Given the description of an element on the screen output the (x, y) to click on. 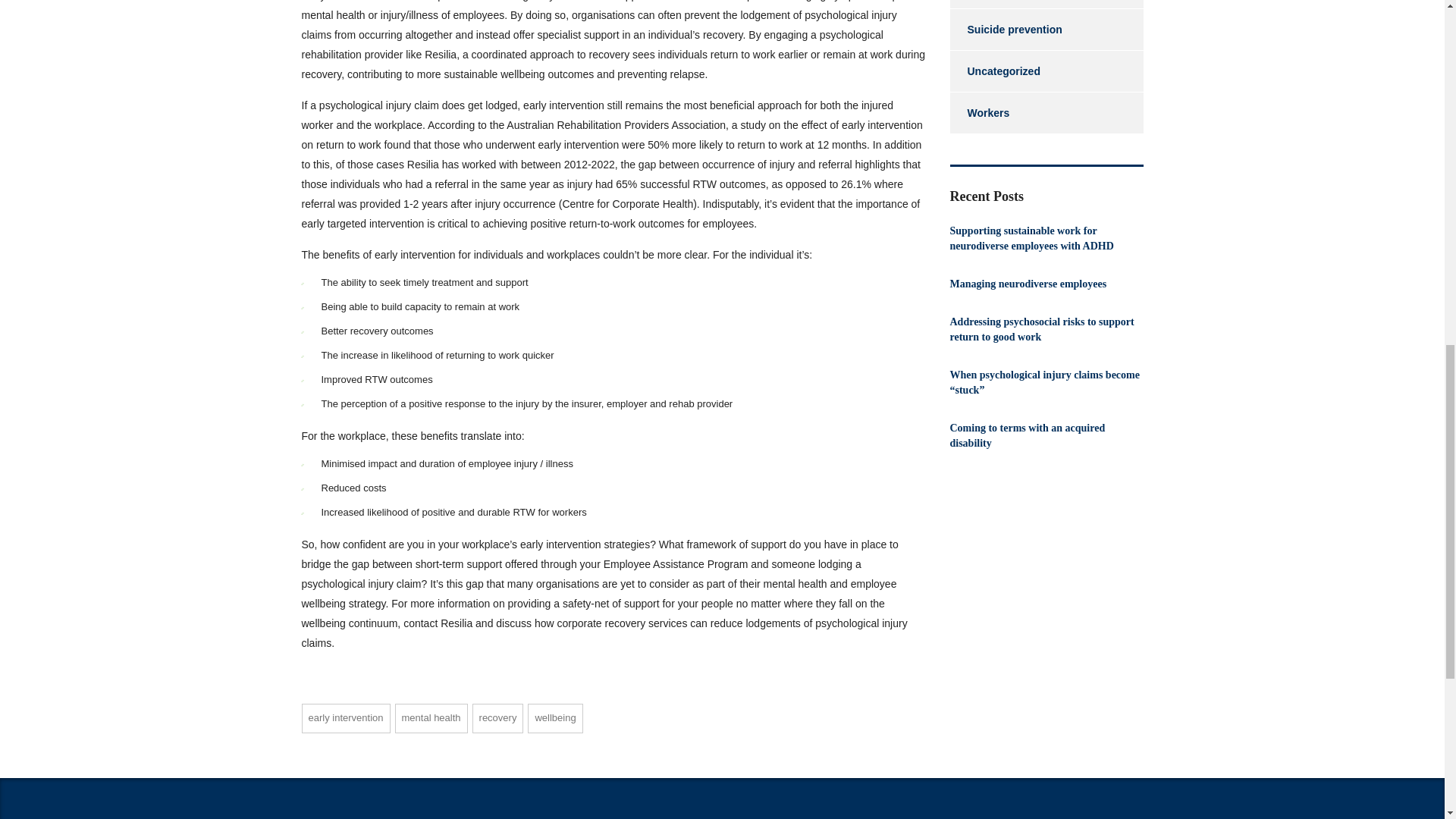
wellbeing (554, 718)
recovery (497, 718)
early intervention (345, 718)
mental health (430, 718)
